Given the description of an element on the screen output the (x, y) to click on. 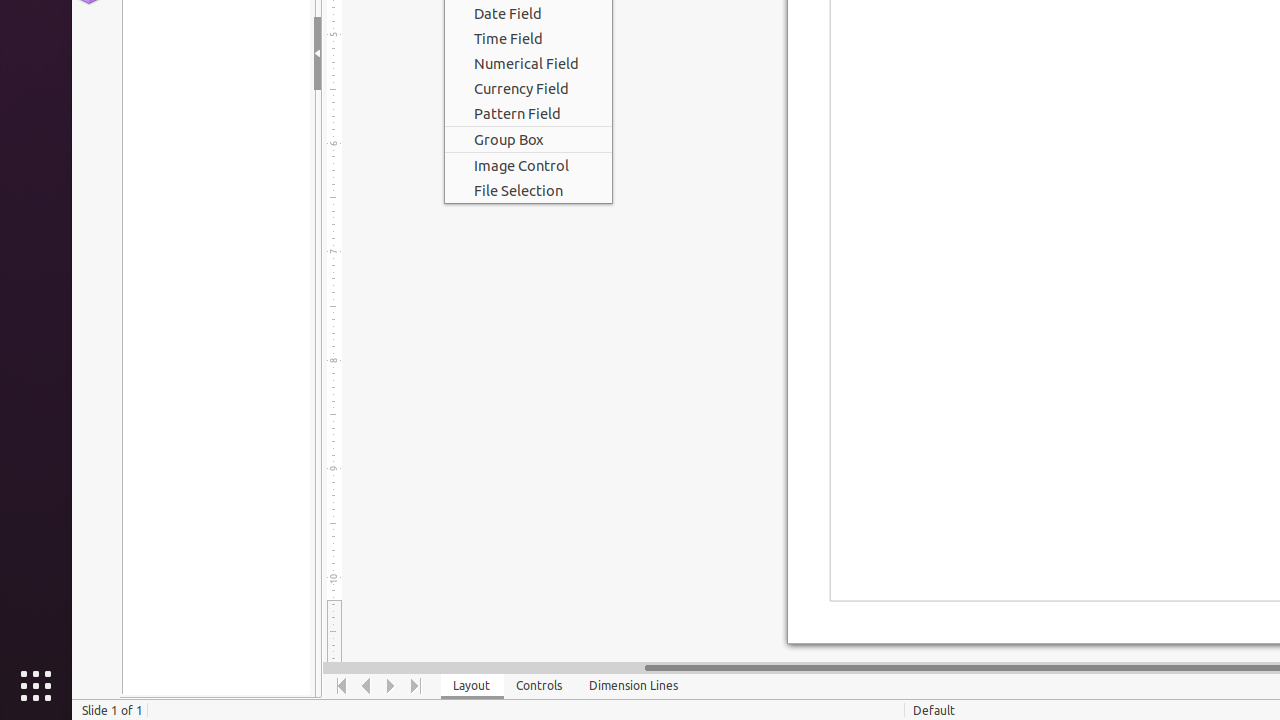
Move Left Element type: push-button (366, 686)
Move To Home Element type: push-button (341, 686)
Move Right Element type: push-button (391, 686)
Pattern Field Element type: check-menu-item (528, 113)
Show Applications Element type: toggle-button (36, 686)
